Given the description of an element on the screen output the (x, y) to click on. 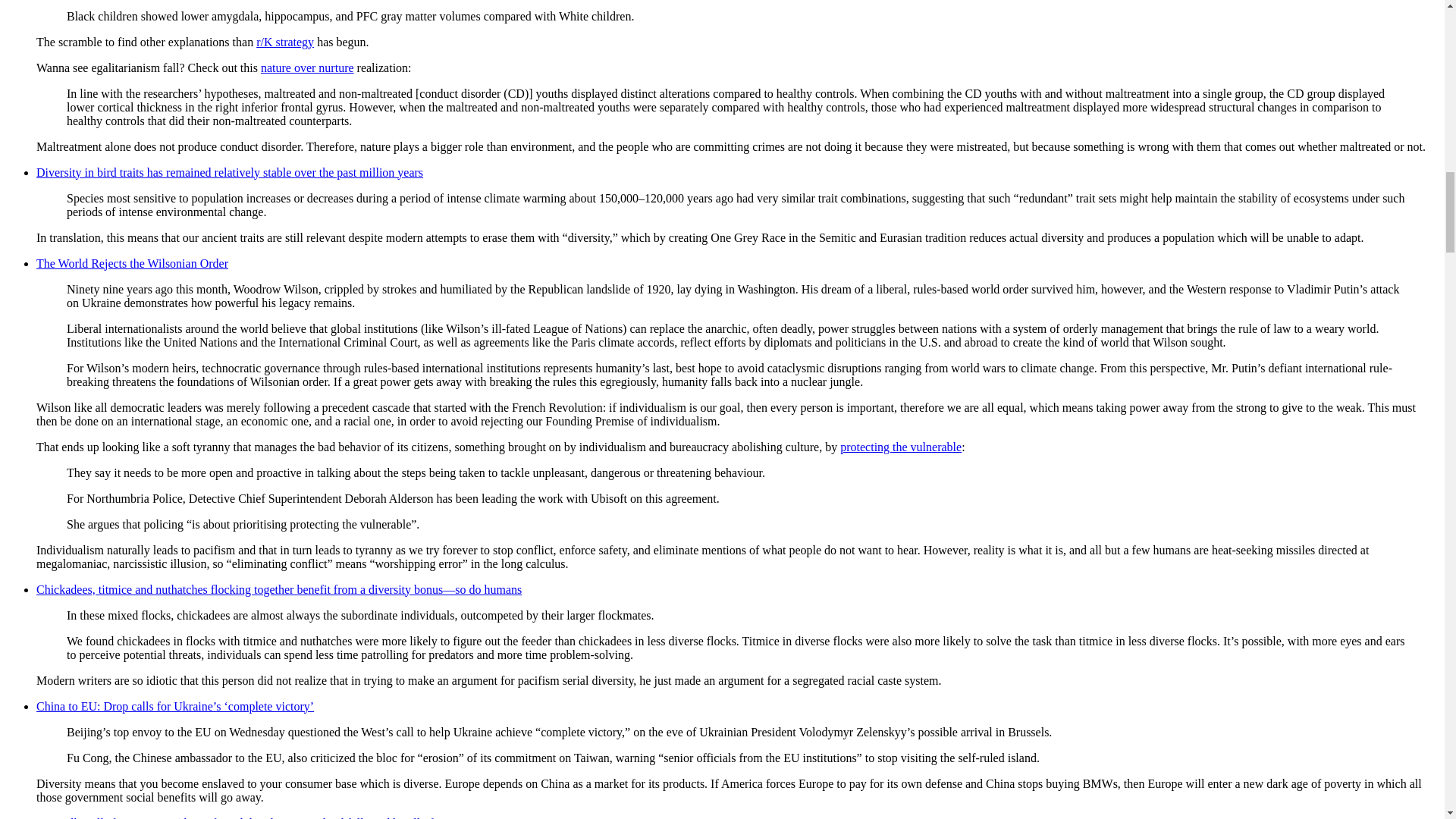
The World Rejects the Wilsonian Order (132, 263)
nature over nurture (306, 67)
protecting the vulnerable (900, 446)
